Given the description of an element on the screen output the (x, y) to click on. 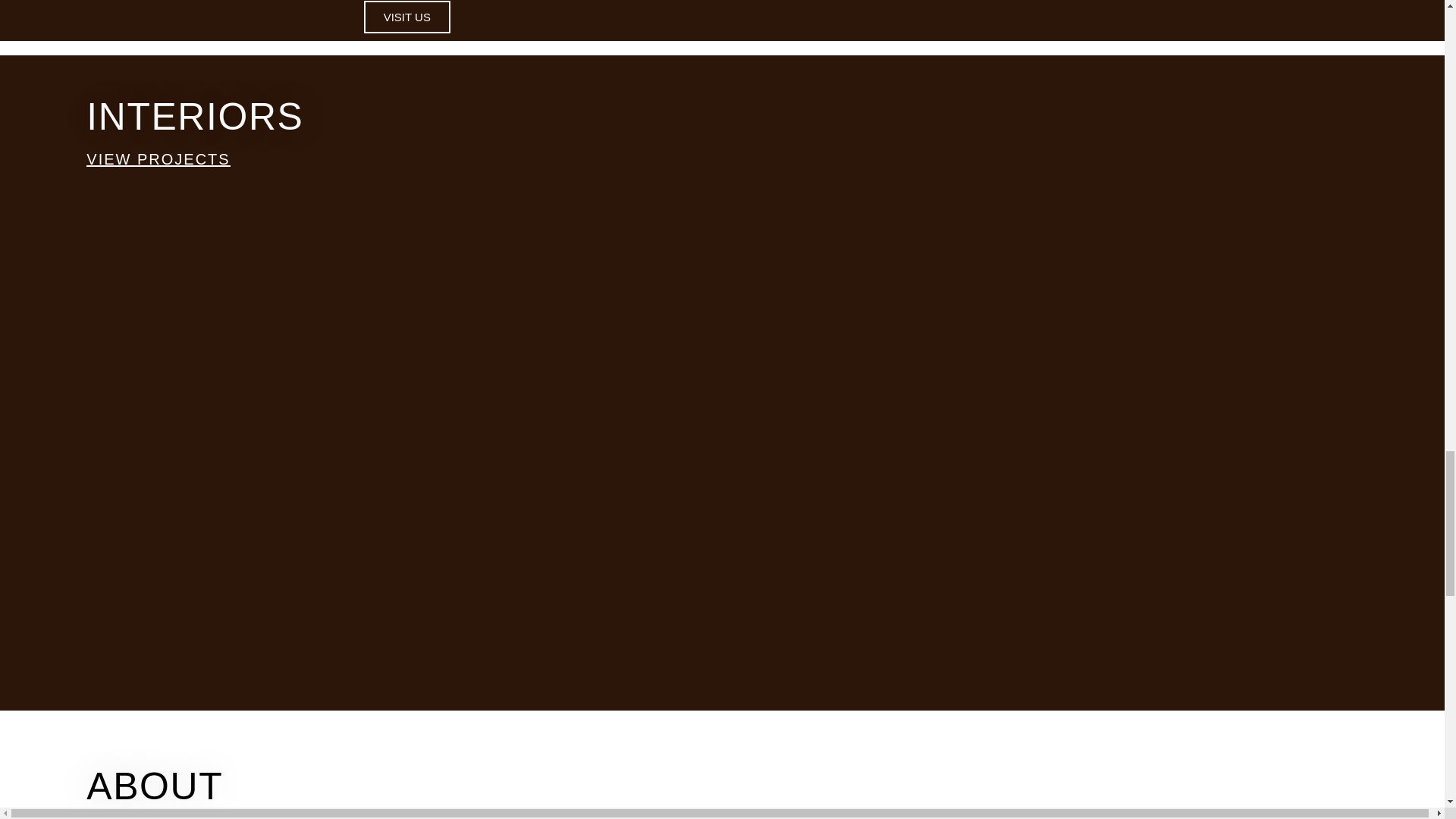
VIEW PROJECTS (157, 159)
INTERIORS (193, 116)
VISIT US (406, 16)
ABOUT (153, 785)
